Given the description of an element on the screen output the (x, y) to click on. 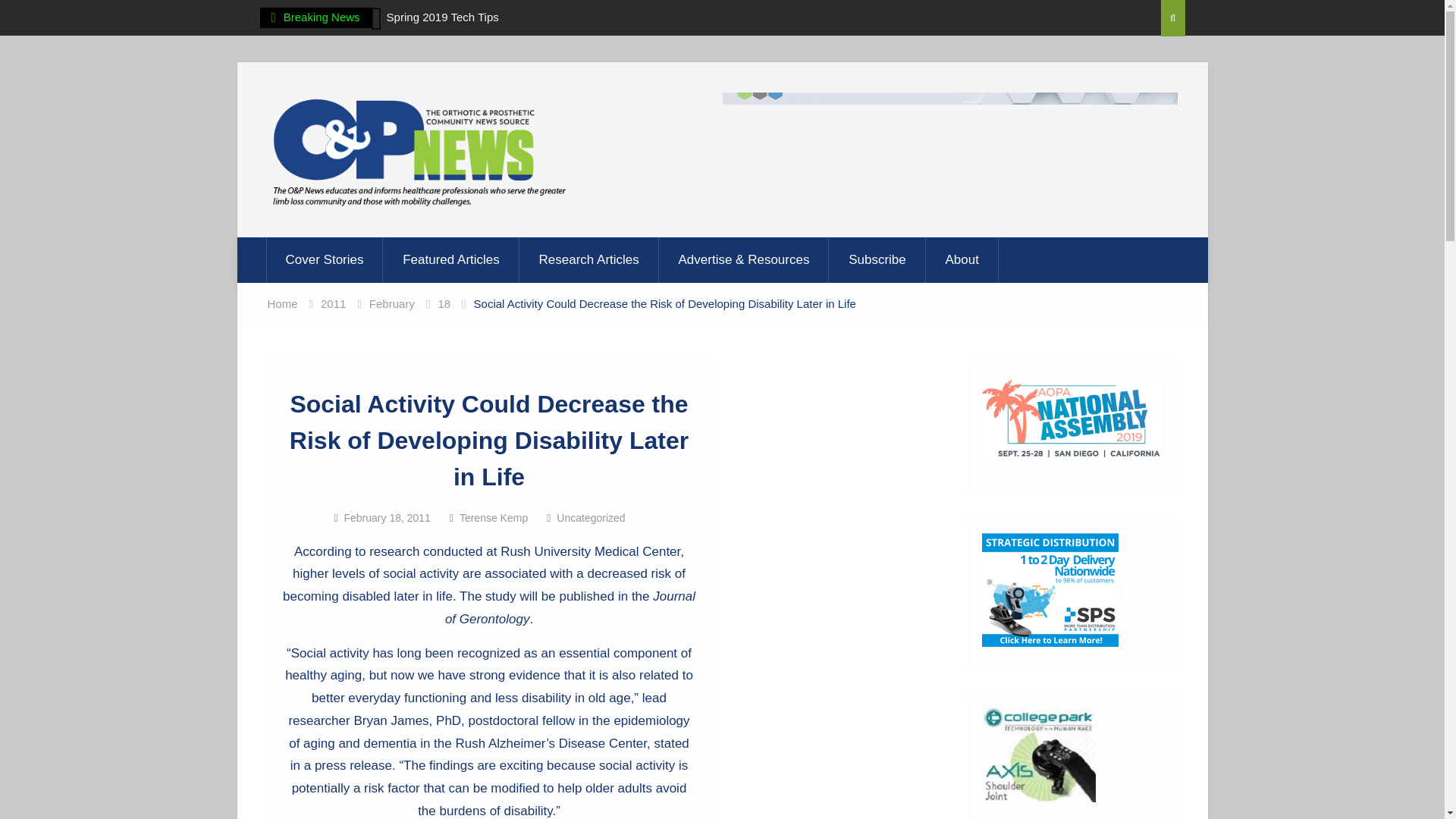
February 18, 2011 (386, 517)
Featured Articles (451, 259)
18 (443, 303)
Cover Stories (323, 259)
Home (281, 303)
Spring 2019 Tech Tips (442, 17)
2011 (333, 303)
Research Articles (589, 259)
Terense Kemp (493, 517)
About (962, 259)
